Given the description of an element on the screen output the (x, y) to click on. 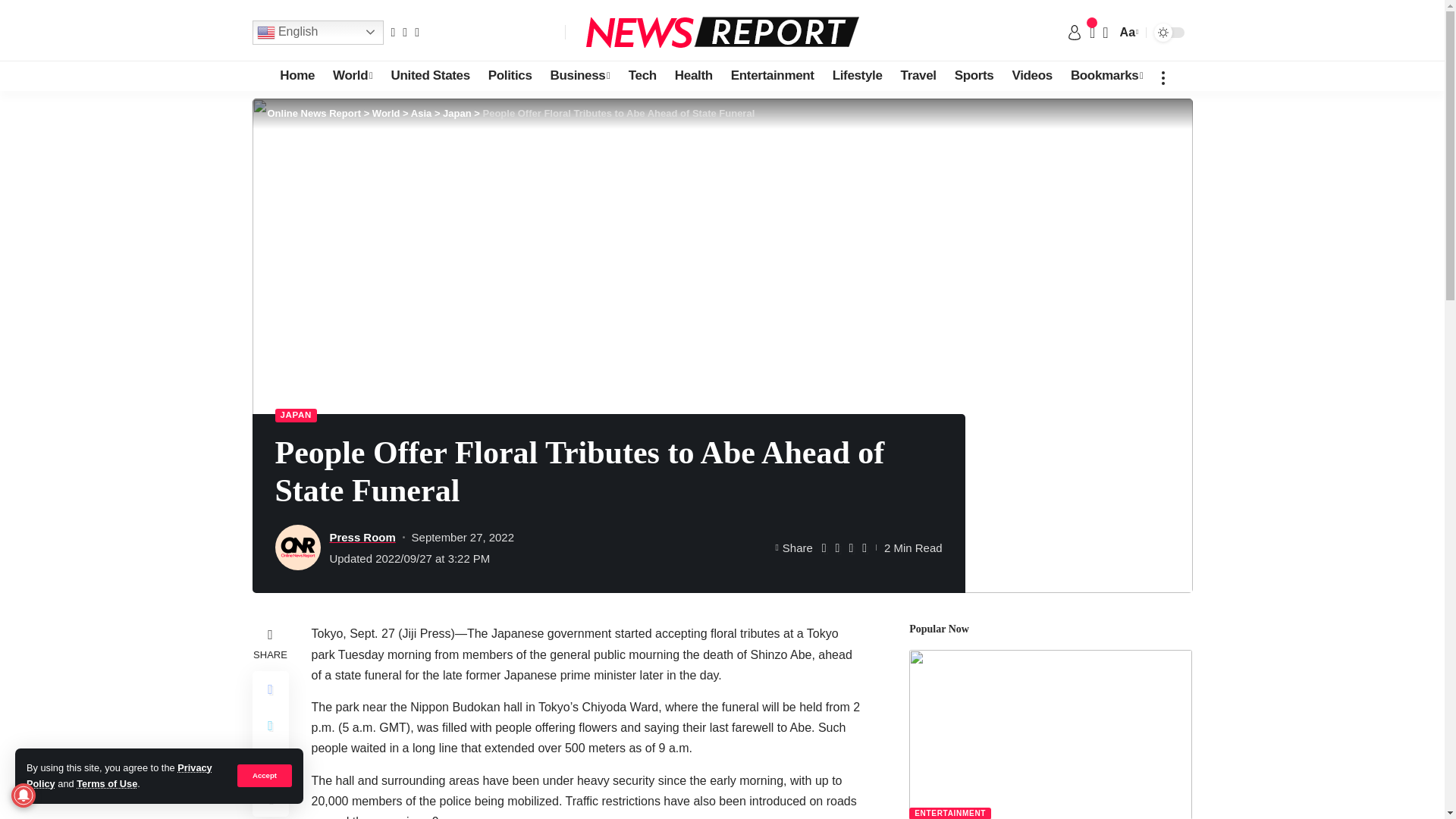
Privacy Policy (119, 775)
English (316, 31)
Online News Report (721, 32)
Aa (1127, 32)
Accept (264, 775)
World (352, 75)
Terms of Use (106, 783)
Home (296, 75)
